Given the description of an element on the screen output the (x, y) to click on. 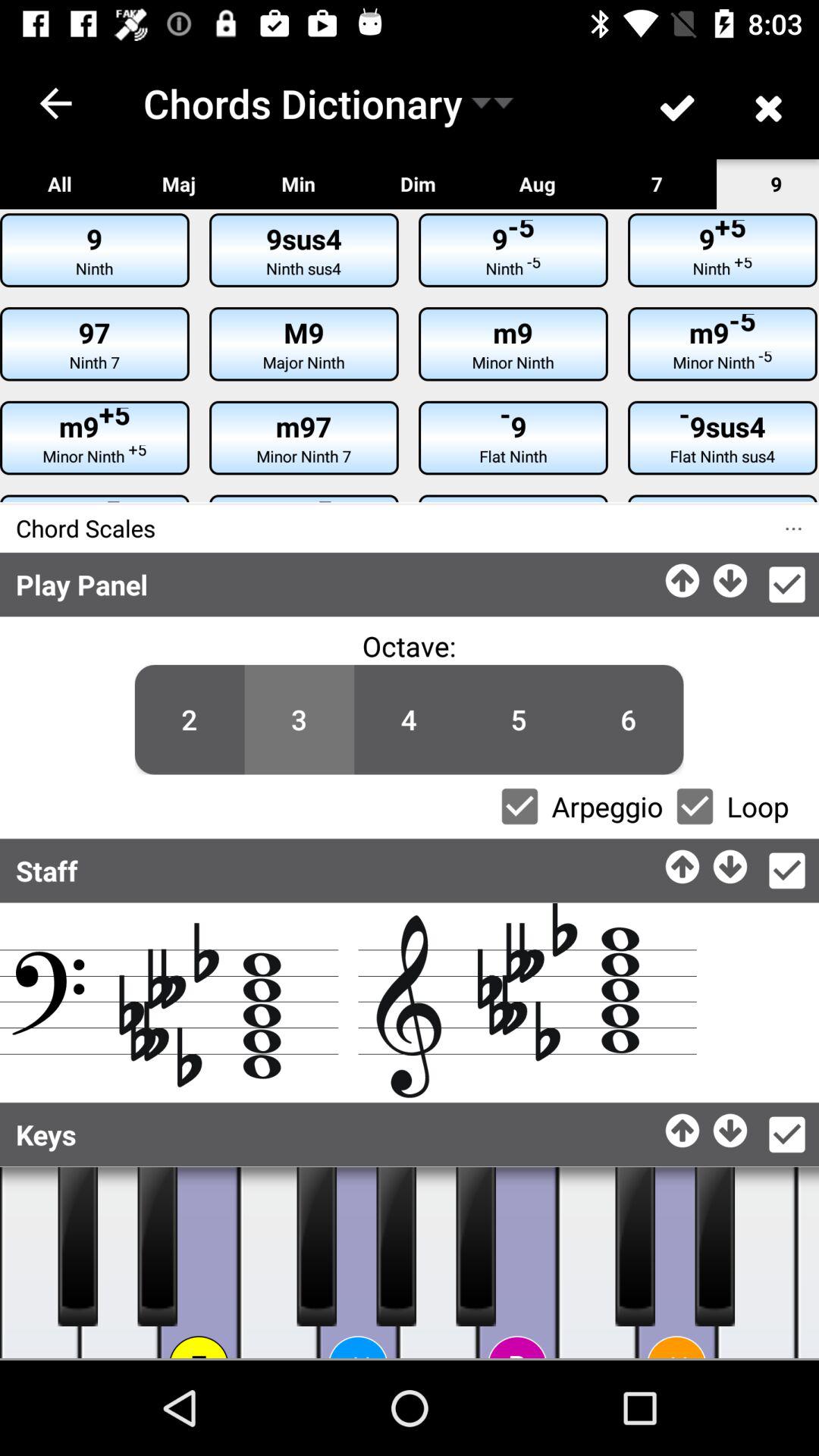
scroll up (683, 1126)
